Given the description of an element on the screen output the (x, y) to click on. 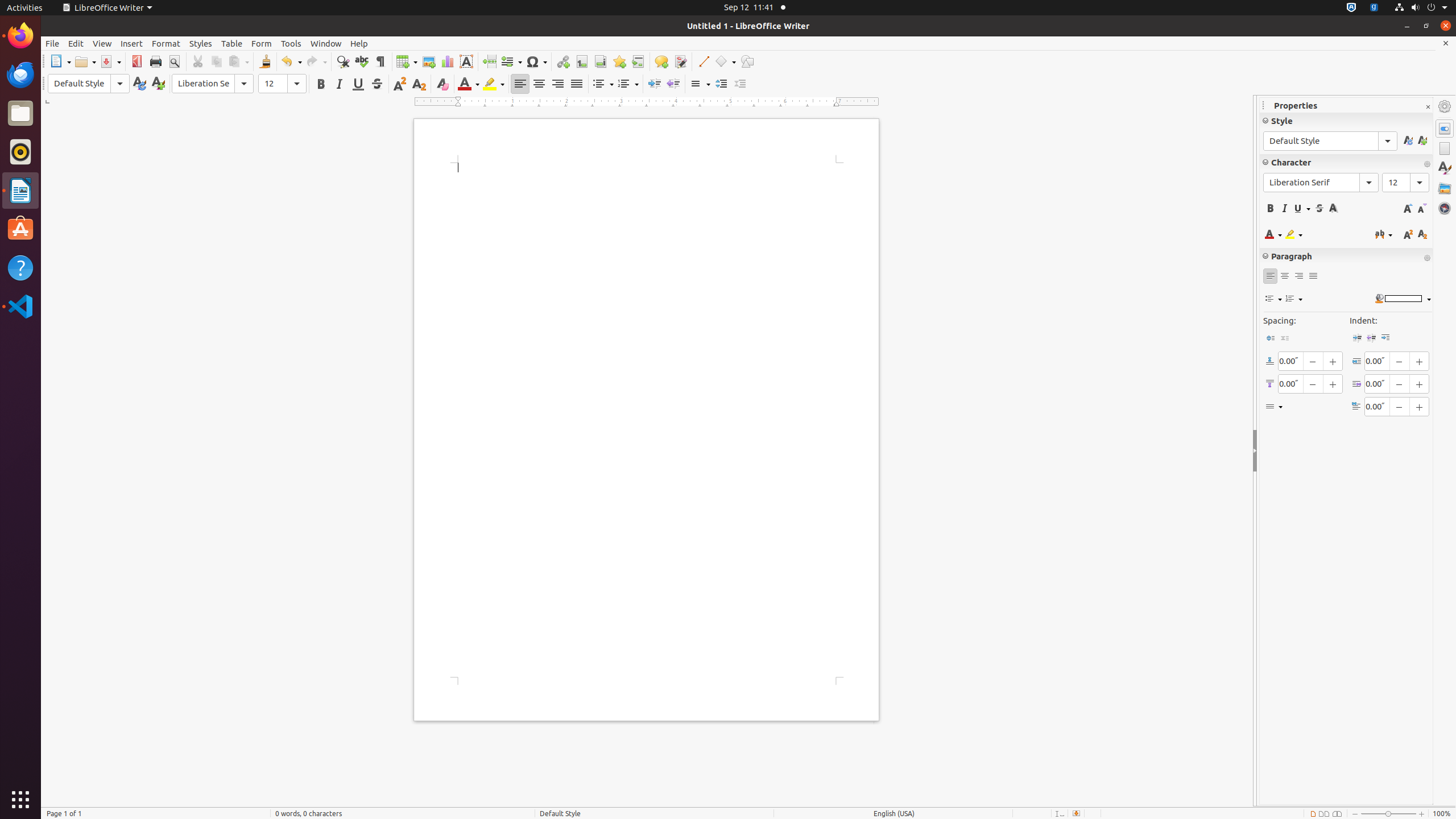
Insert Element type: menu (131, 43)
Bullets Element type: push-button (602, 83)
Cut Element type: push-button (197, 61)
Find & Replace Element type: toggle-button (342, 61)
Draw Functions Element type: push-button (746, 61)
